Given the description of an element on the screen output the (x, y) to click on. 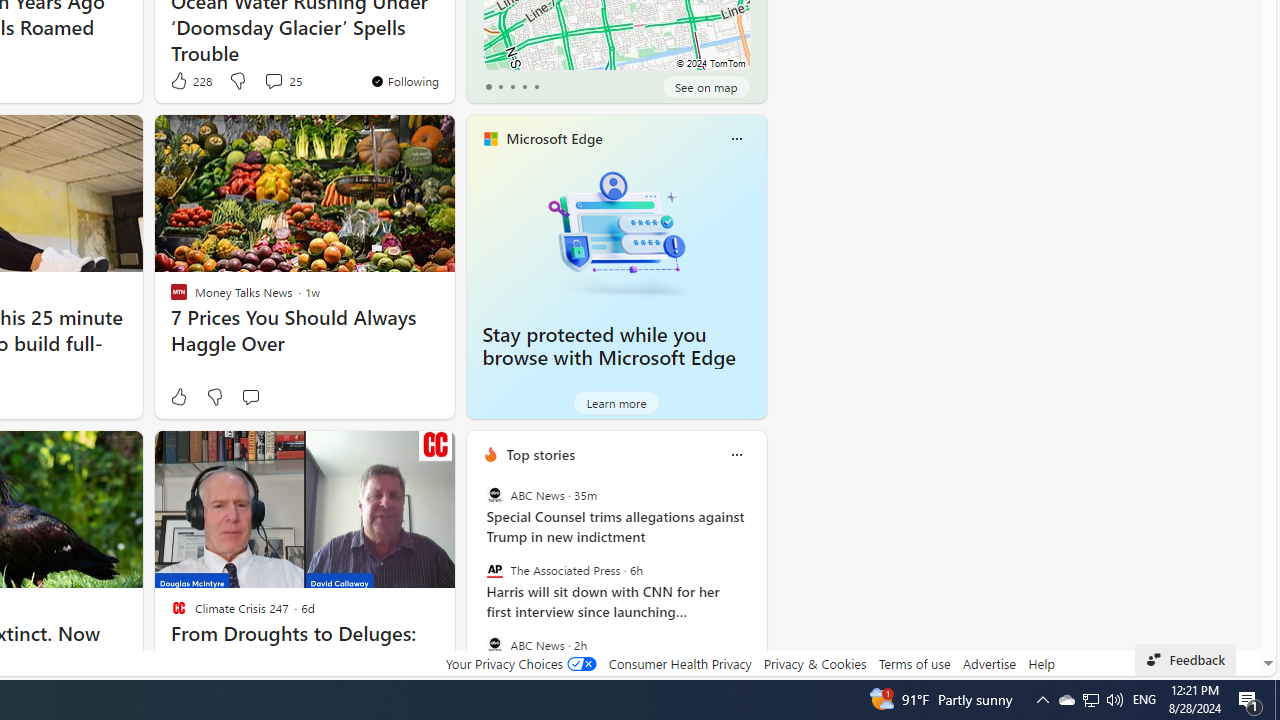
tab-4 (535, 86)
Your Privacy Choices (520, 663)
Learn more (616, 402)
previous (476, 583)
